Given the description of an element on the screen output the (x, y) to click on. 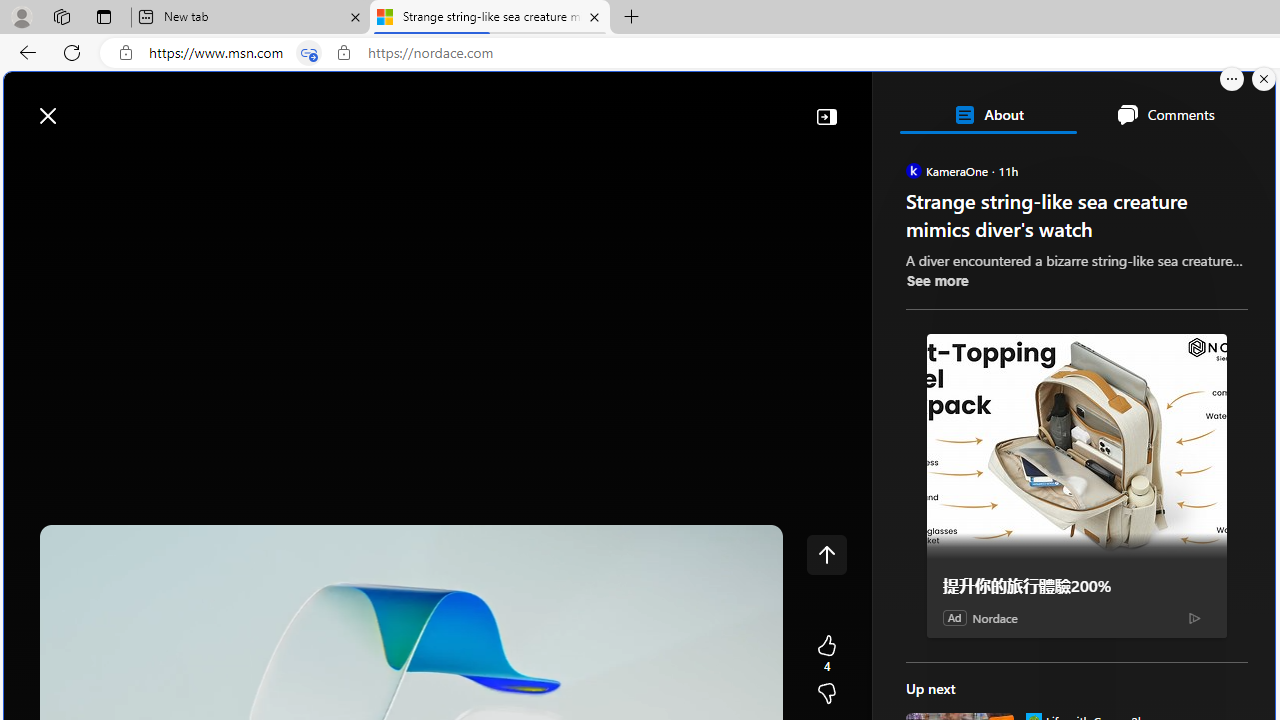
Microsoft Start (94, 105)
Watch (249, 162)
ABC News (974, 557)
Notifications (1190, 105)
Comments (1165, 114)
Personal Profile (21, 16)
Watch (257, 162)
Collapse (826, 115)
Tabs in split screen (308, 53)
See more (936, 280)
Close tab (594, 16)
